Given the description of an element on the screen output the (x, y) to click on. 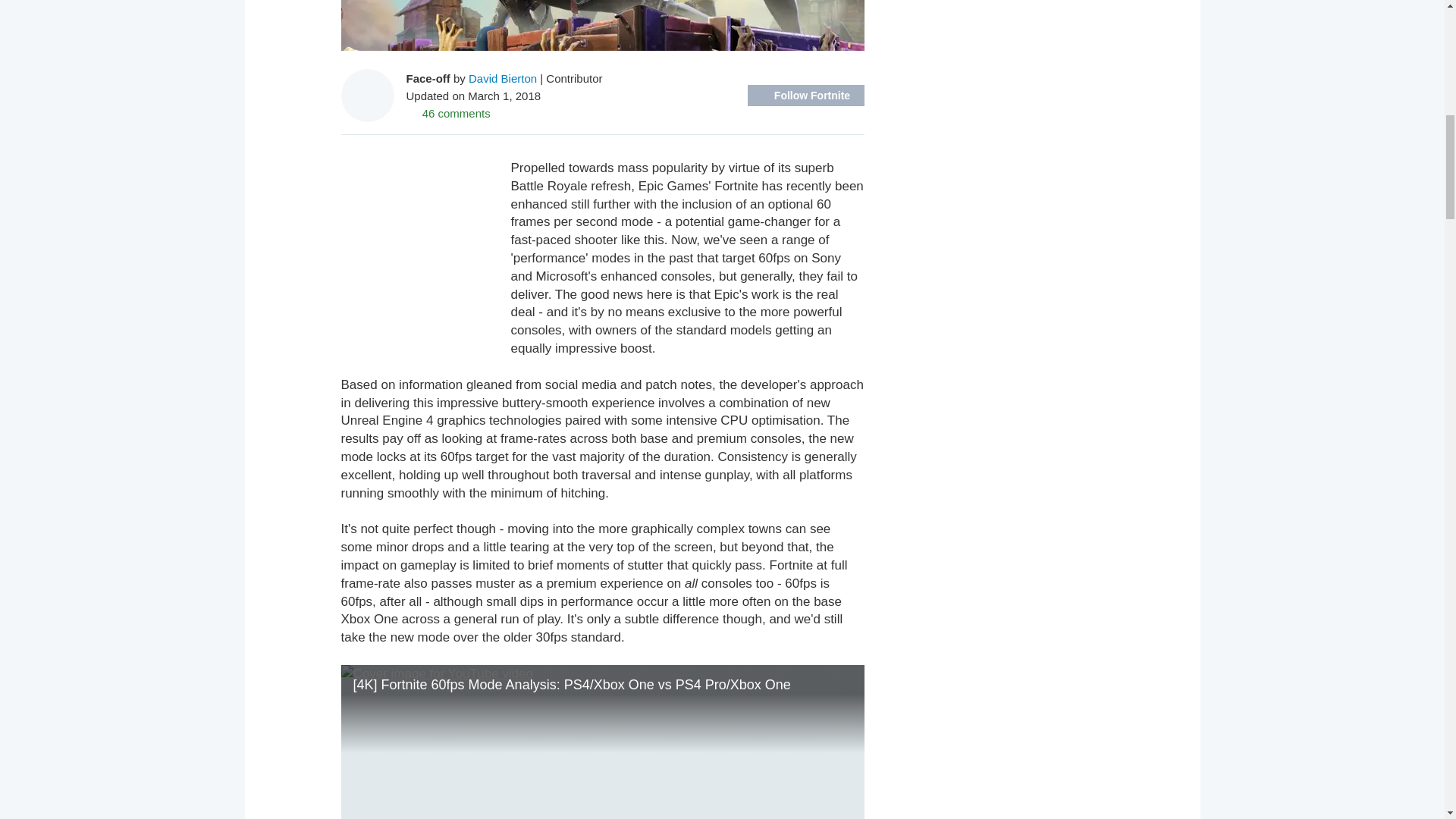
46 comments (448, 112)
David Bierton (502, 77)
Follow Fortnite (806, 95)
